Given the description of an element on the screen output the (x, y) to click on. 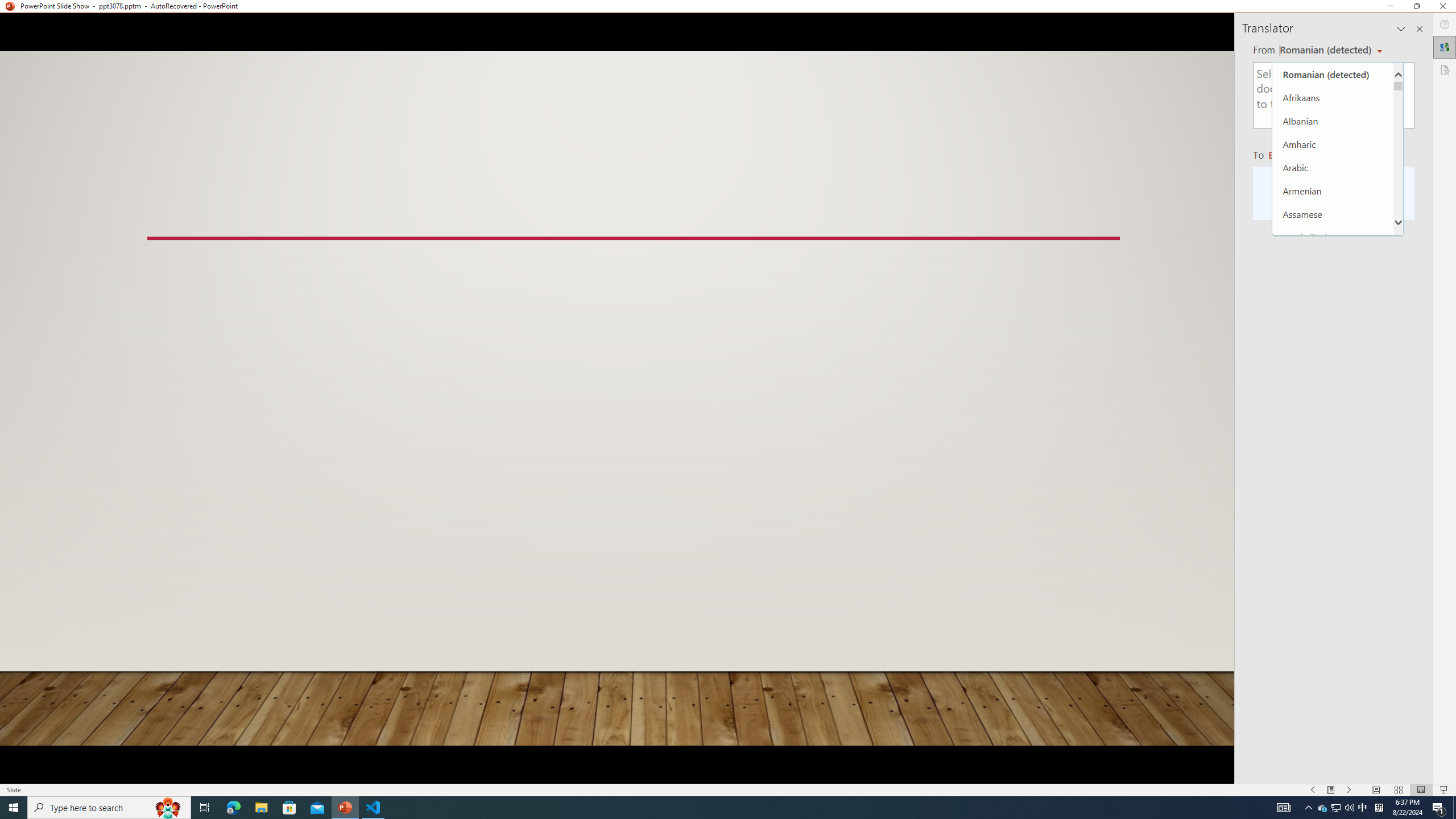
Bodo (1332, 354)
Armenian (1332, 190)
Albanian (1332, 120)
Romanian (detected) (1323, 50)
Bhojpuri (1332, 330)
Bashkir (1332, 283)
Danish (1332, 609)
